Given the description of an element on the screen output the (x, y) to click on. 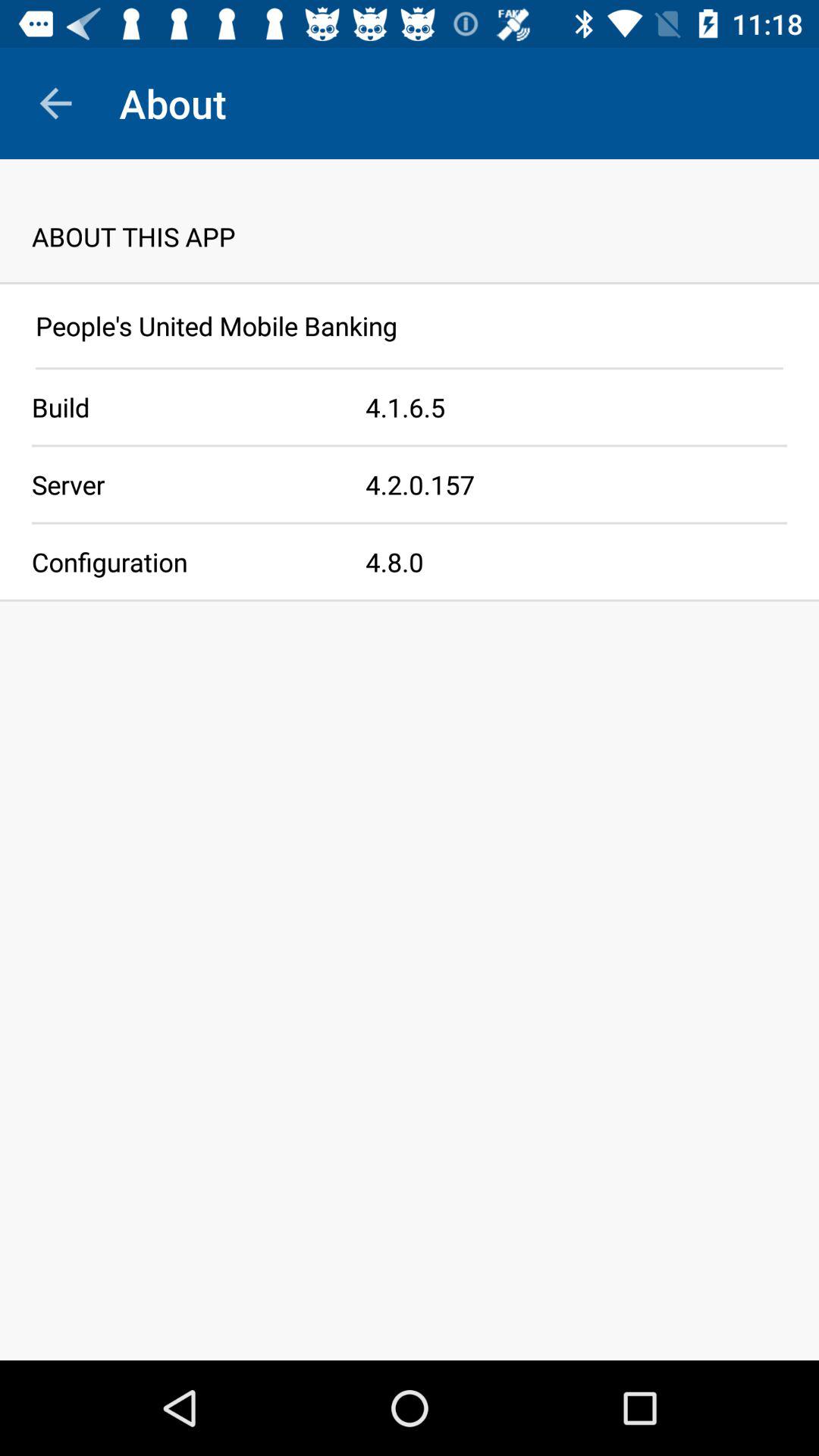
open app to the left of 4 1 6 icon (182, 406)
